Given the description of an element on the screen output the (x, y) to click on. 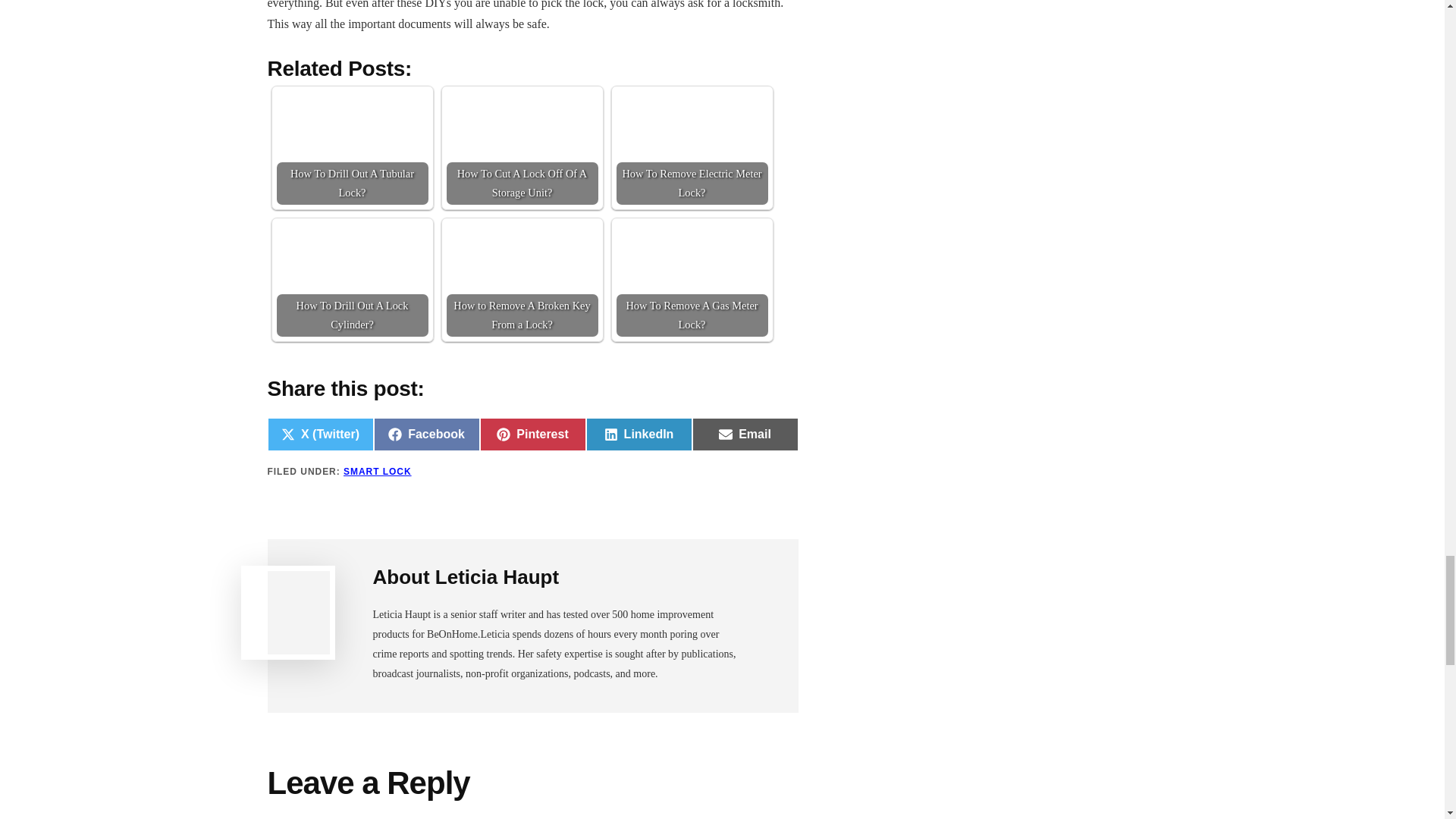
How To Cut A Lock Off Of A Storage Unit? (520, 147)
How To Drill Out A Tubular Lock? (352, 122)
How To Drill Out A Tubular Lock? (352, 147)
